Given the description of an element on the screen output the (x, y) to click on. 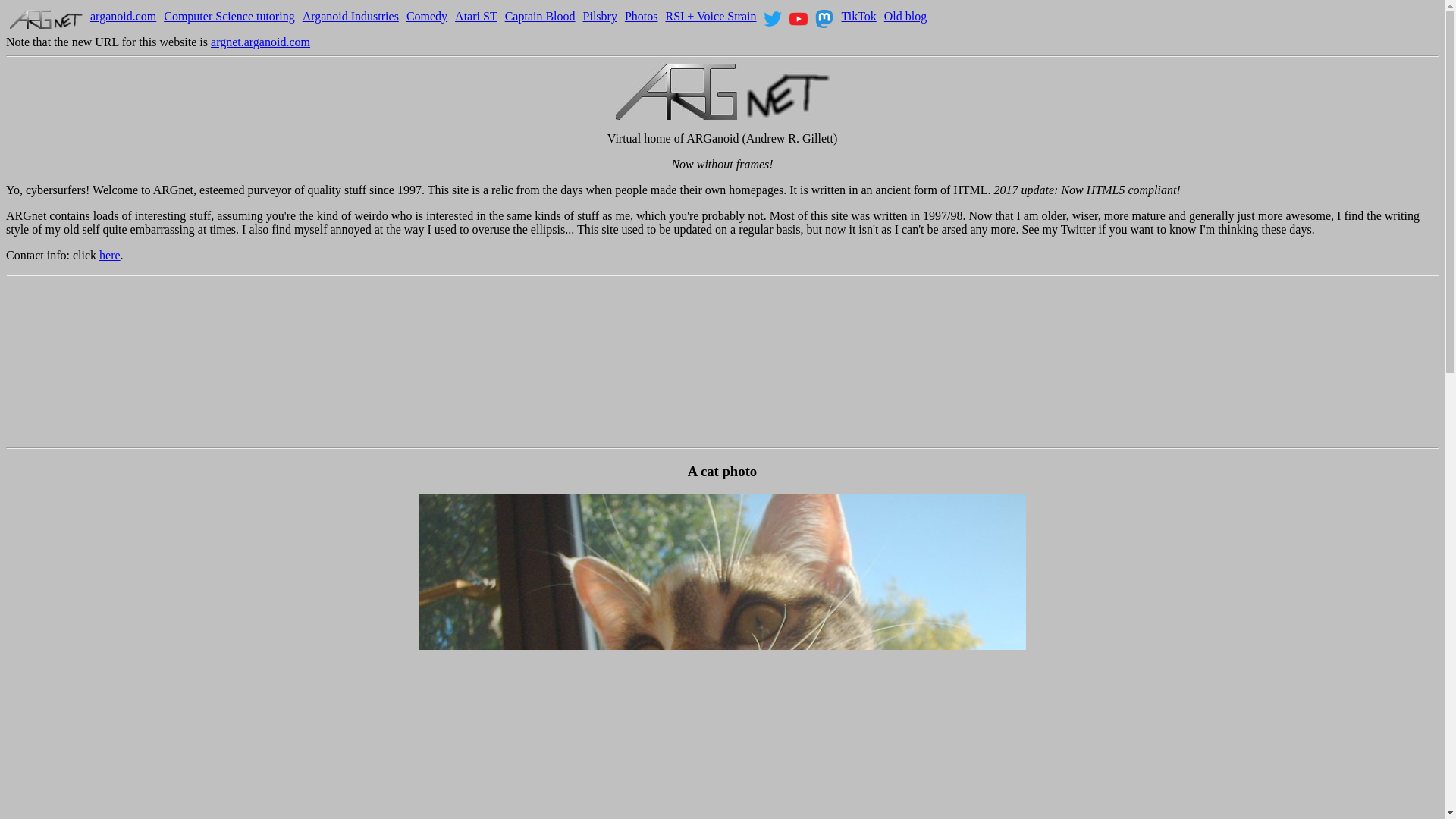
Photos (641, 15)
TikTok (858, 15)
argnet.arganoid.com (260, 42)
Computer Science tutoring (228, 15)
Captain Blood (540, 15)
Arganoid Industries (350, 15)
Atari ST (475, 15)
arganoid.com (122, 15)
here (109, 254)
Pilsbry (600, 15)
